Given the description of an element on the screen output the (x, y) to click on. 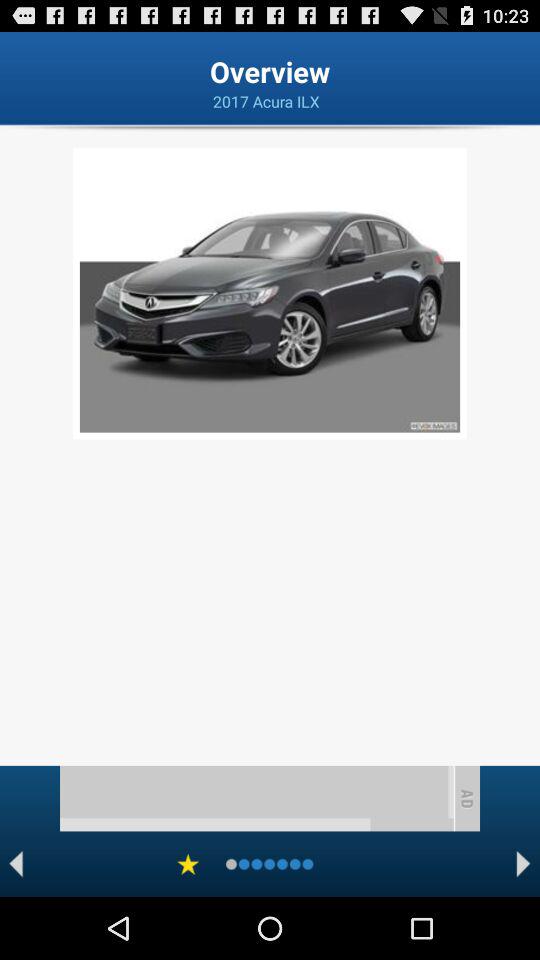
open previous image (16, 864)
